Given the description of an element on the screen output the (x, y) to click on. 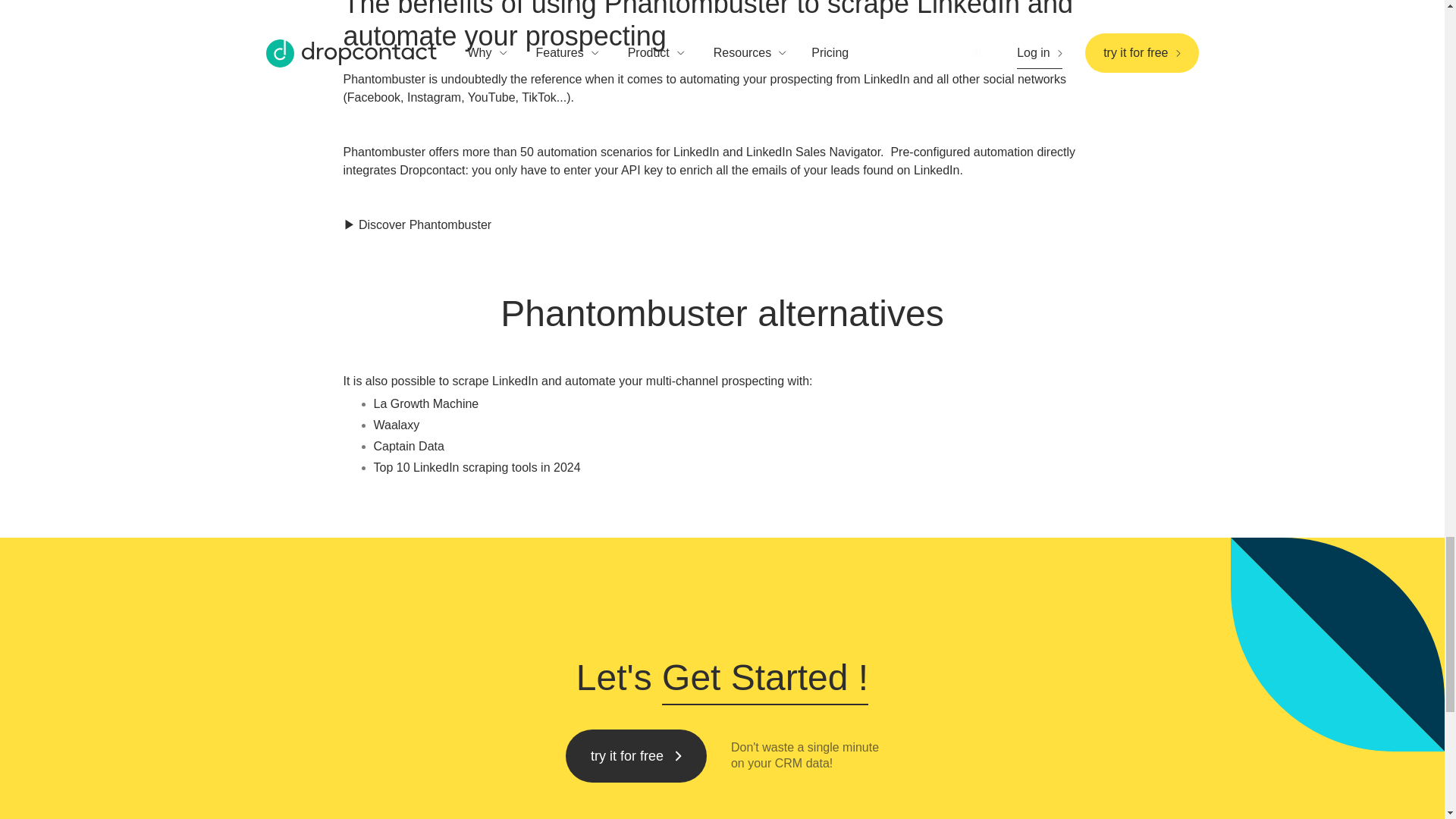
Waalaxy (395, 424)
Discover Phantombuster (425, 224)
La Growth Machine (425, 403)
Captain Data (408, 445)
